Given the description of an element on the screen output the (x, y) to click on. 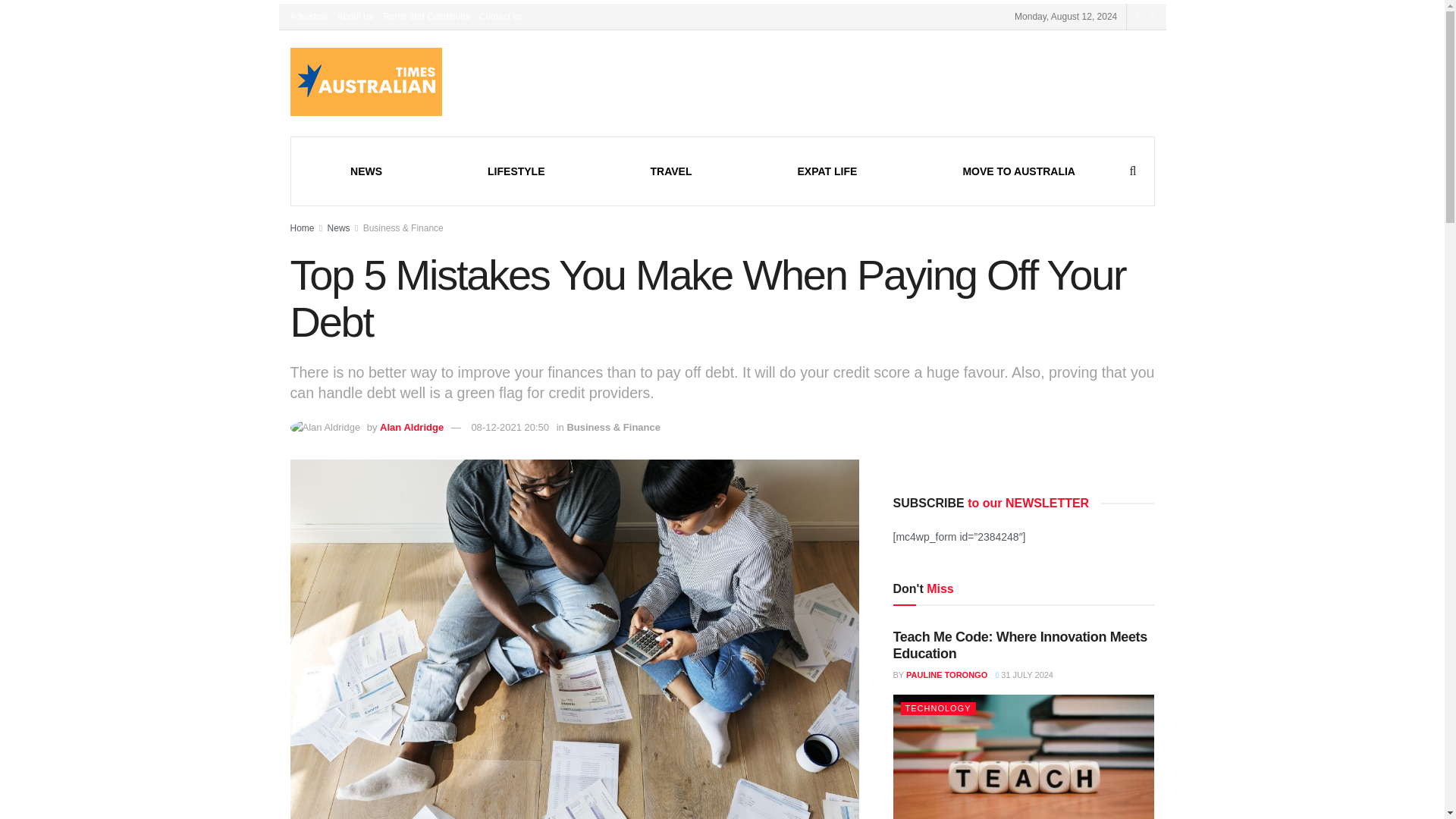
TRAVEL (671, 170)
Australian Travel (671, 170)
UK Life (827, 170)
About us (354, 16)
Australian Entertainment (515, 170)
LIFESTYLE (515, 170)
MOVE TO AUSTRALIA (1018, 170)
Contact us (500, 16)
Advertise (308, 16)
EXPAT LIFE (827, 170)
